Given the description of an element on the screen output the (x, y) to click on. 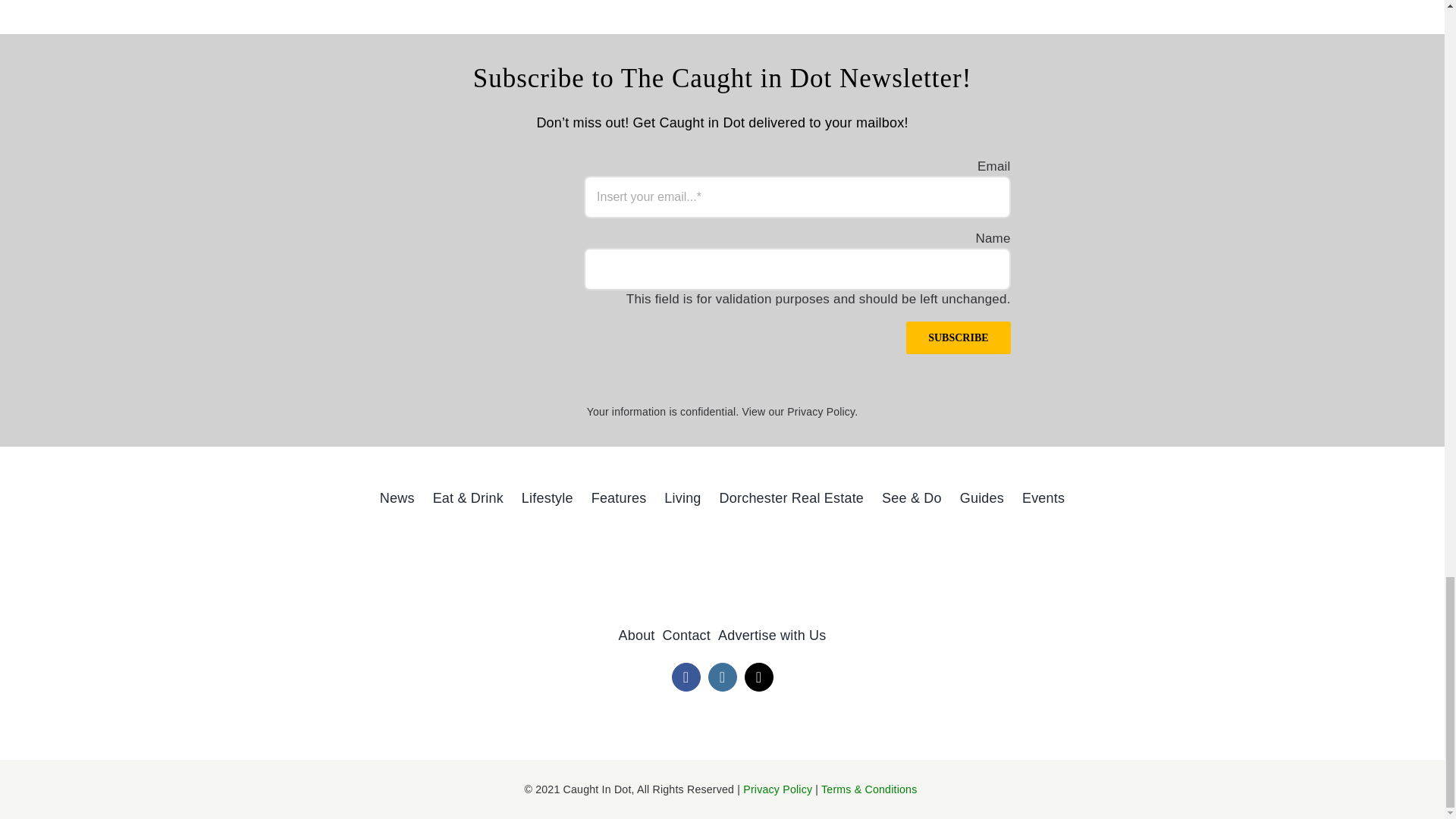
Subscribe (957, 337)
